Given the description of an element on the screen output the (x, y) to click on. 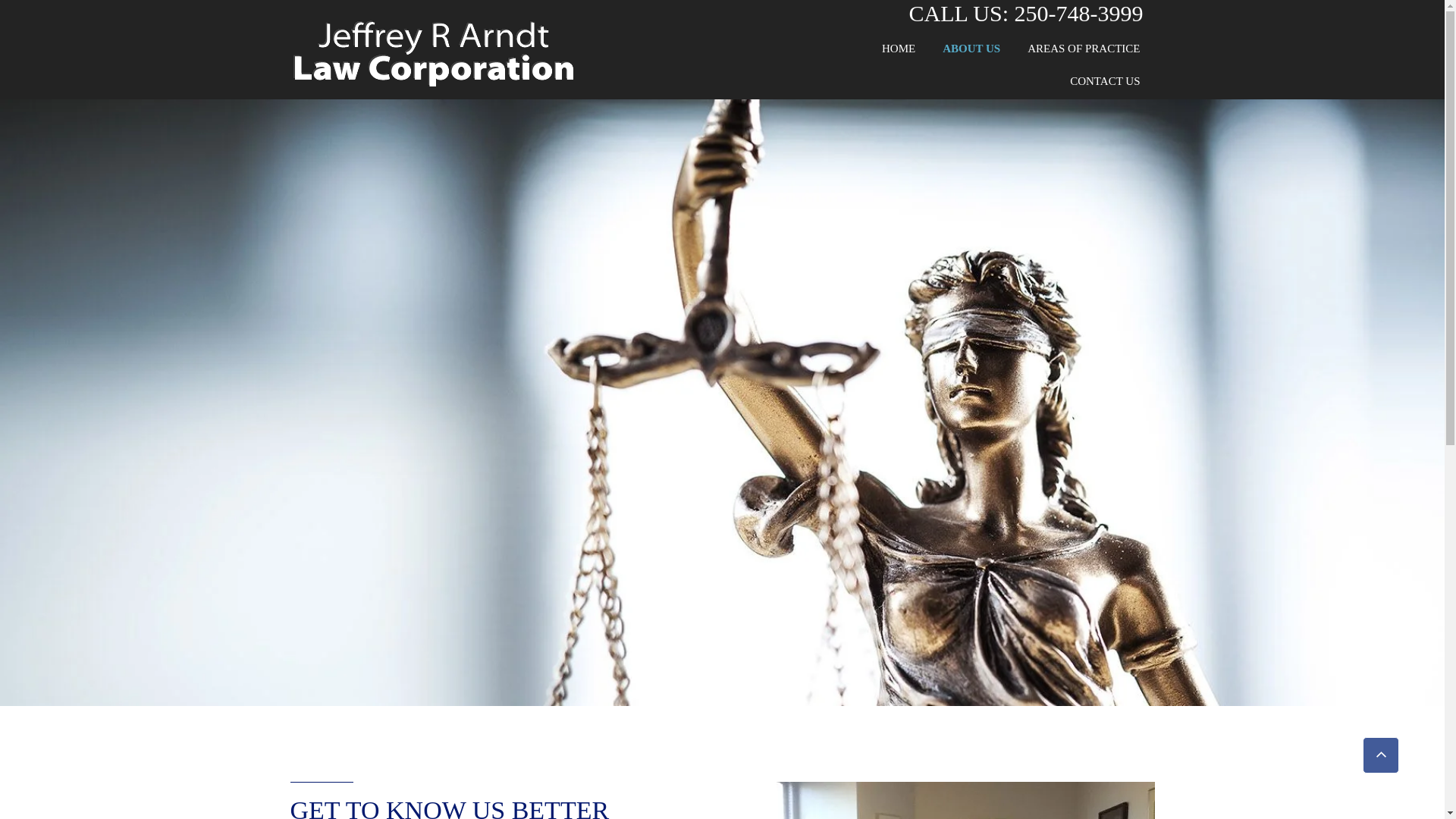
CONTACT US (1105, 81)
250-748-3999 (1078, 18)
AREAS OF PRACTICE (1083, 48)
ABOUT US (970, 48)
HOME (897, 48)
